Given the description of an element on the screen output the (x, y) to click on. 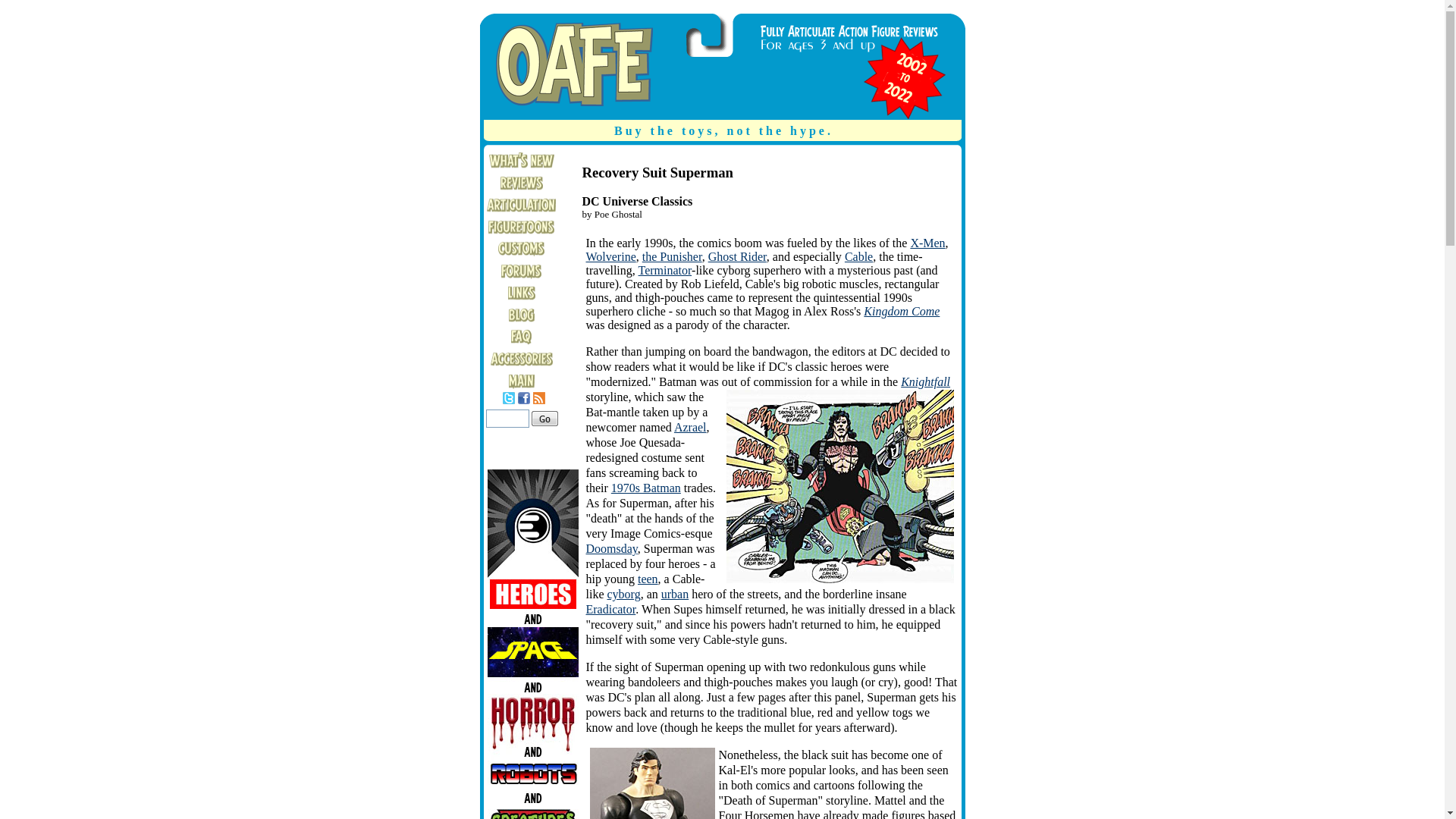
cyborg (623, 594)
Kingdom Come (901, 310)
teen (647, 578)
Ghost Rider (737, 256)
Knightfall (925, 381)
1970s Batman (646, 487)
the Punisher (671, 256)
Recovery Suit Superman (651, 783)
Cable (858, 256)
Wolverine (609, 256)
Azrael (690, 427)
X-Men (927, 242)
Doomsday (611, 548)
Terminator (666, 269)
